Given the description of an element on the screen output the (x, y) to click on. 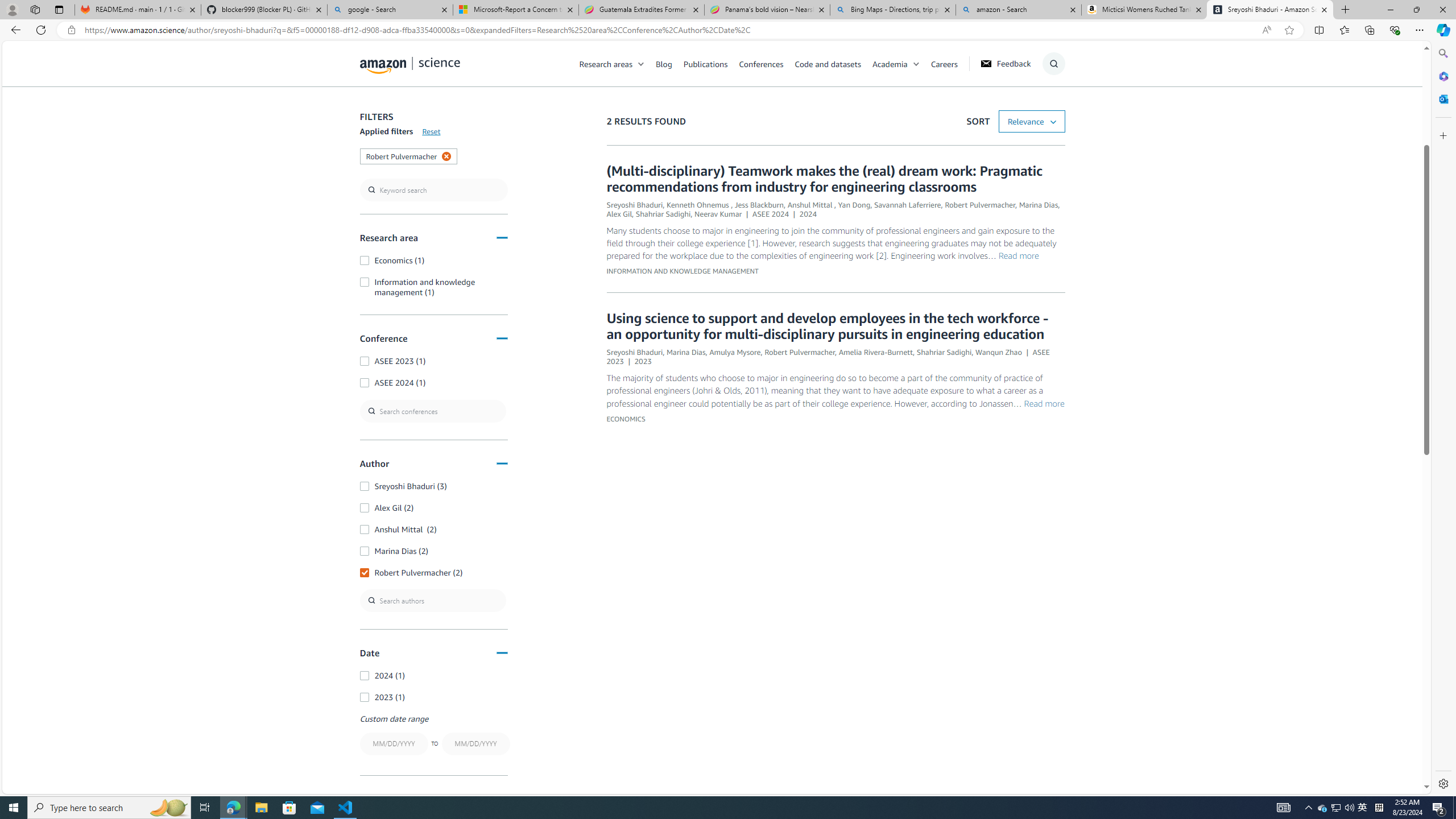
Conferences (760, 63)
Academia (889, 63)
Publications (710, 63)
INFORMATION AND KNOWLEDGE MANAGEMENT (681, 271)
home page (409, 62)
Jess Blackburn (758, 204)
Sreyoshi Bhaduri - Amazon Science (1270, 9)
